Given the description of an element on the screen output the (x, y) to click on. 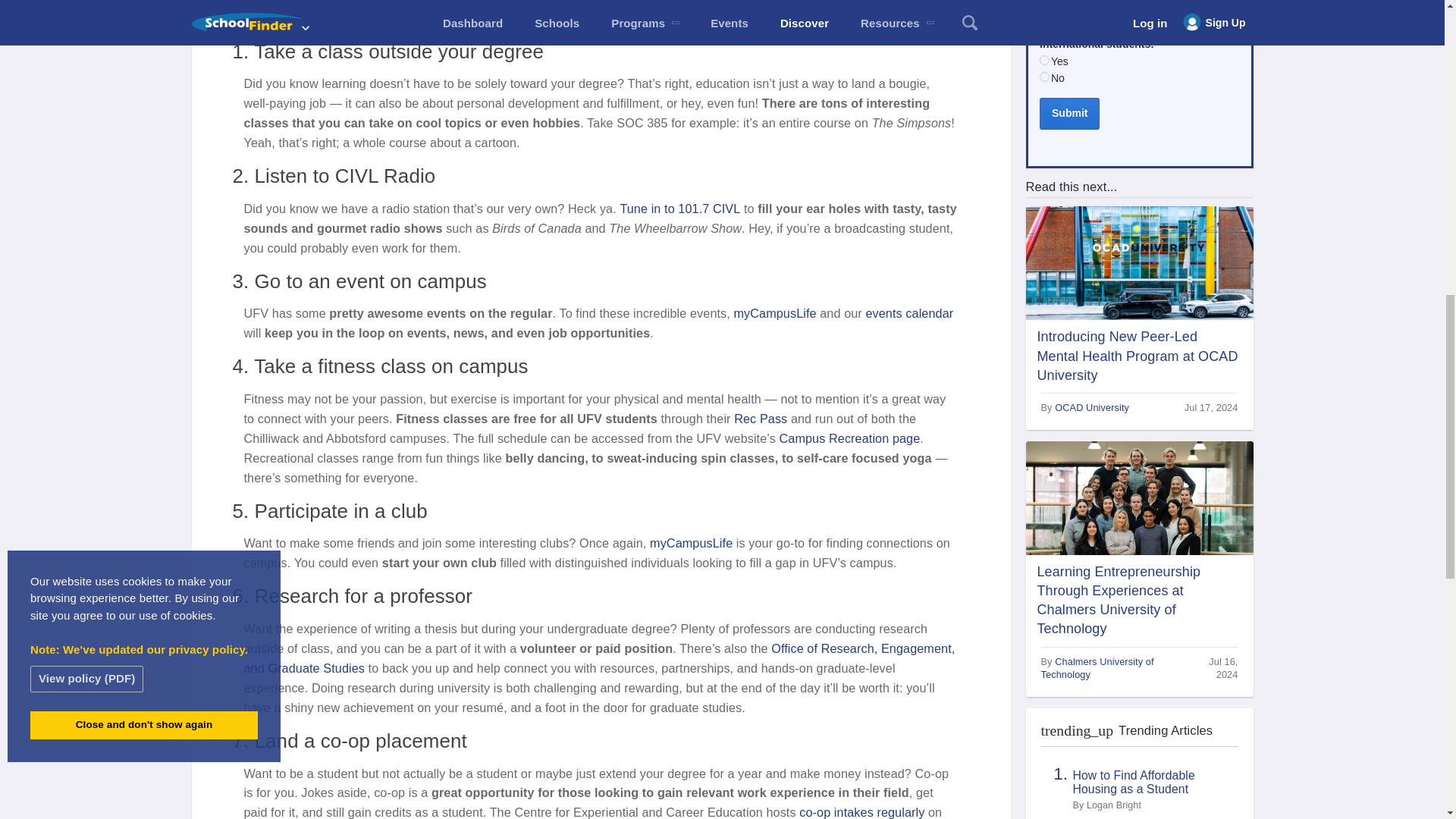
Tune in to 101.7 CIVL (679, 208)
Rec Pass (760, 418)
events calendar (908, 313)
myCampusLife (774, 313)
University of the Fraser Valley (596, 2)
